Given the description of an element on the screen output the (x, y) to click on. 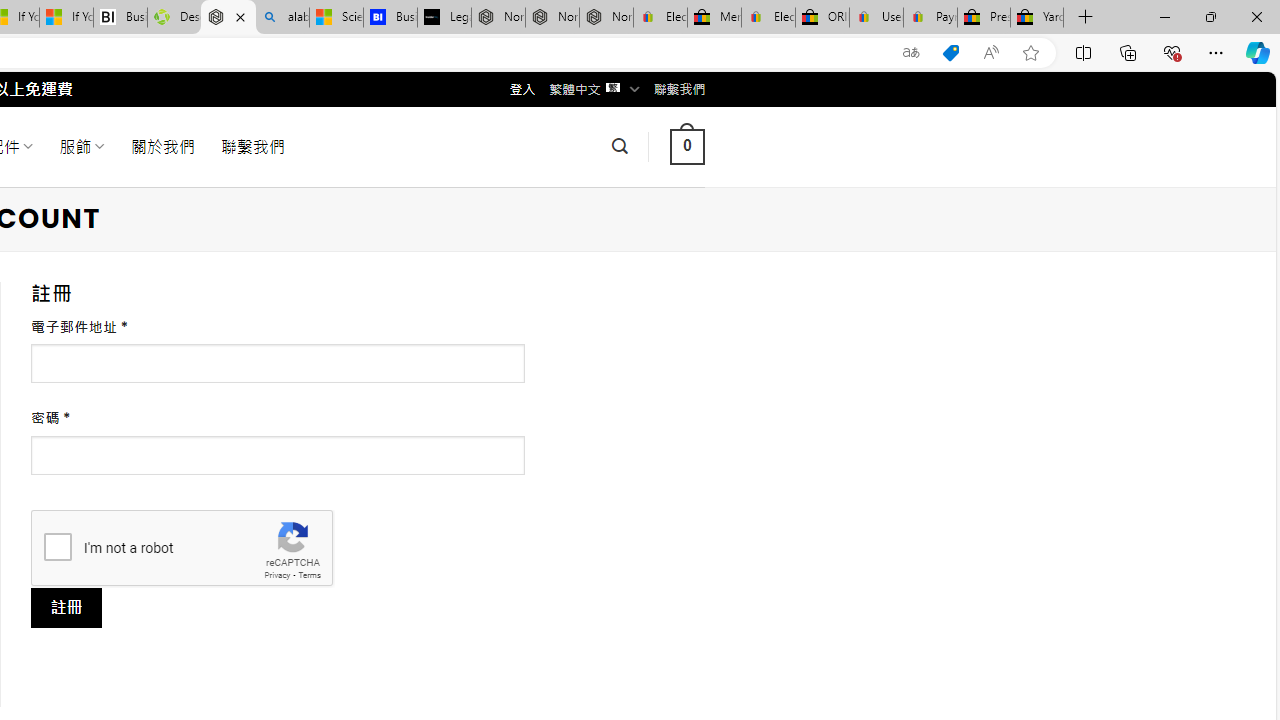
 0  (687, 146)
alabama high school quarterback dies - Search (282, 17)
Terms (309, 575)
This site has coupons! Shopping in Microsoft Edge (950, 53)
